Given the description of an element on the screen output the (x, y) to click on. 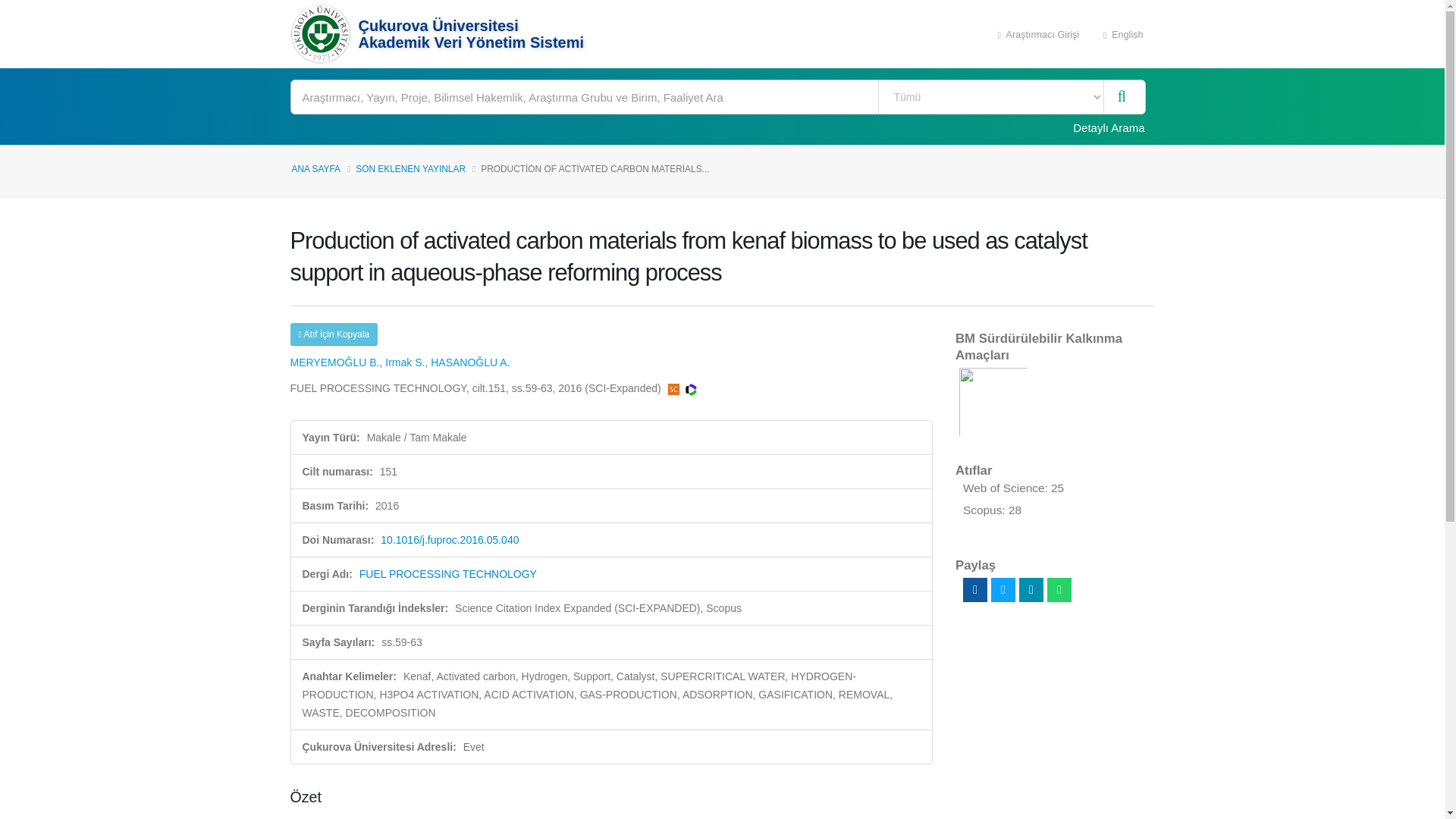
English (1123, 33)
ANA SAYFA (315, 168)
FUEL PROCESSING TECHNOLOGY (448, 573)
Irmak S. (405, 362)
SON EKLENEN YAYINLAR (410, 168)
